Given the description of an element on the screen output the (x, y) to click on. 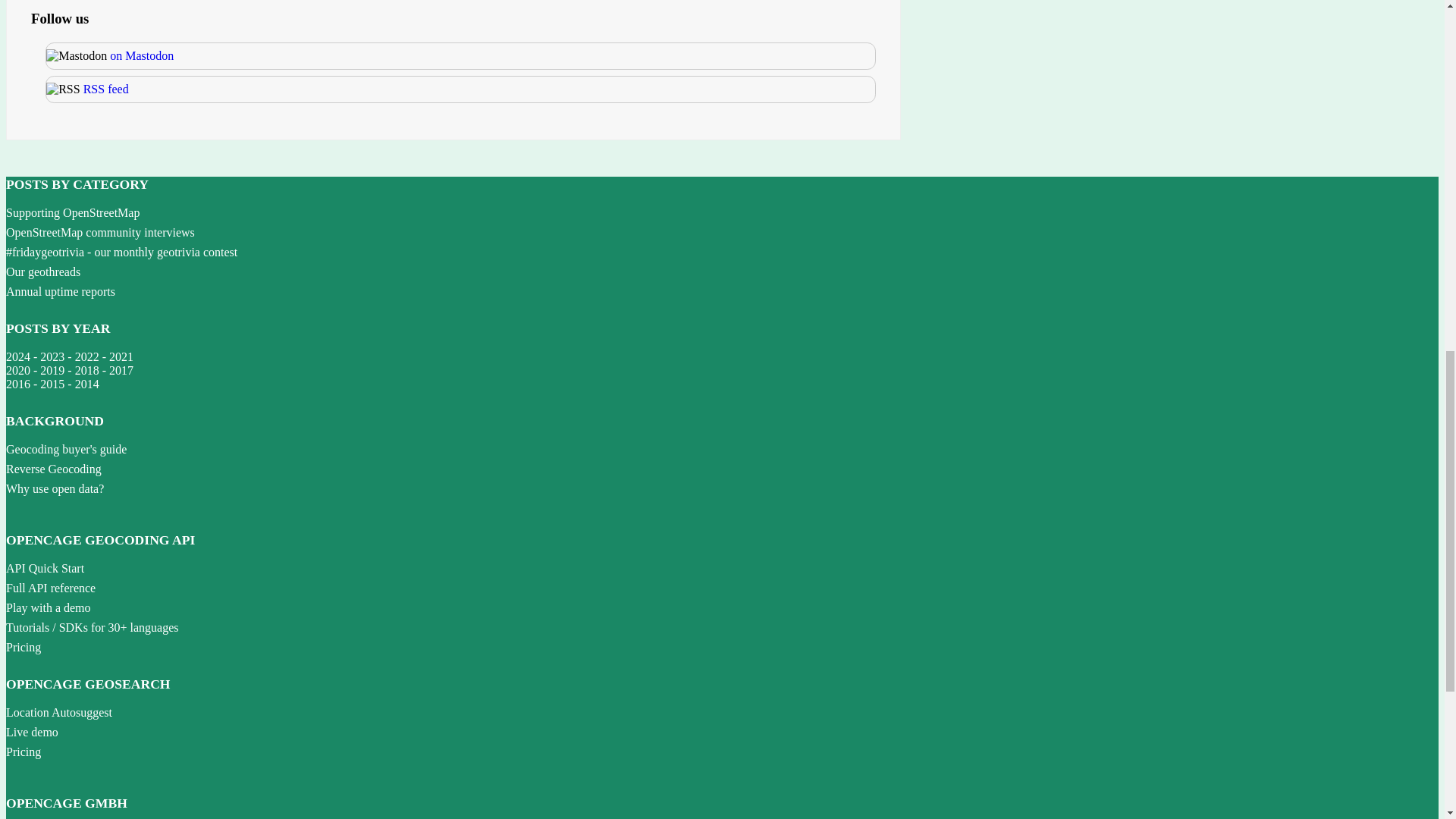
on Mastodon (141, 55)
OpenStreetMap community interviews (100, 232)
2020 (17, 369)
2021 (121, 356)
2017 (121, 369)
Reverse Geocoding (53, 468)
2019 (52, 369)
2023 (52, 356)
Pricing (22, 751)
2015 (52, 383)
Annual uptime reports (60, 291)
2014 (87, 383)
Supporting OpenStreetMap (72, 212)
2016 (17, 383)
2018 (87, 369)
